Given the description of an element on the screen output the (x, y) to click on. 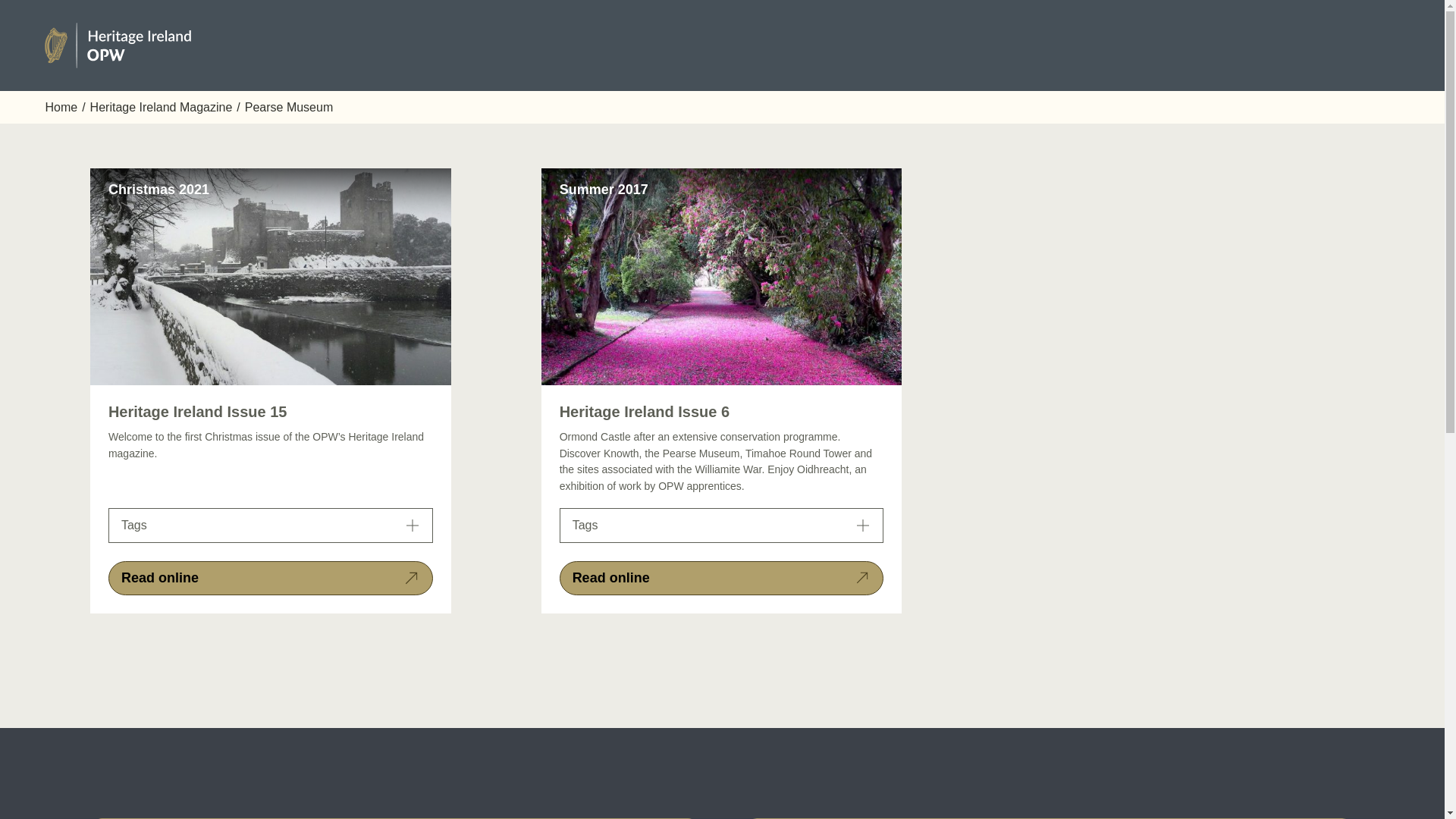
Heritage Ireland (120, 44)
Home (61, 106)
Read online (721, 578)
Read online (269, 578)
Heritage Ireland Magazine (161, 106)
